Given the description of an element on the screen output the (x, y) to click on. 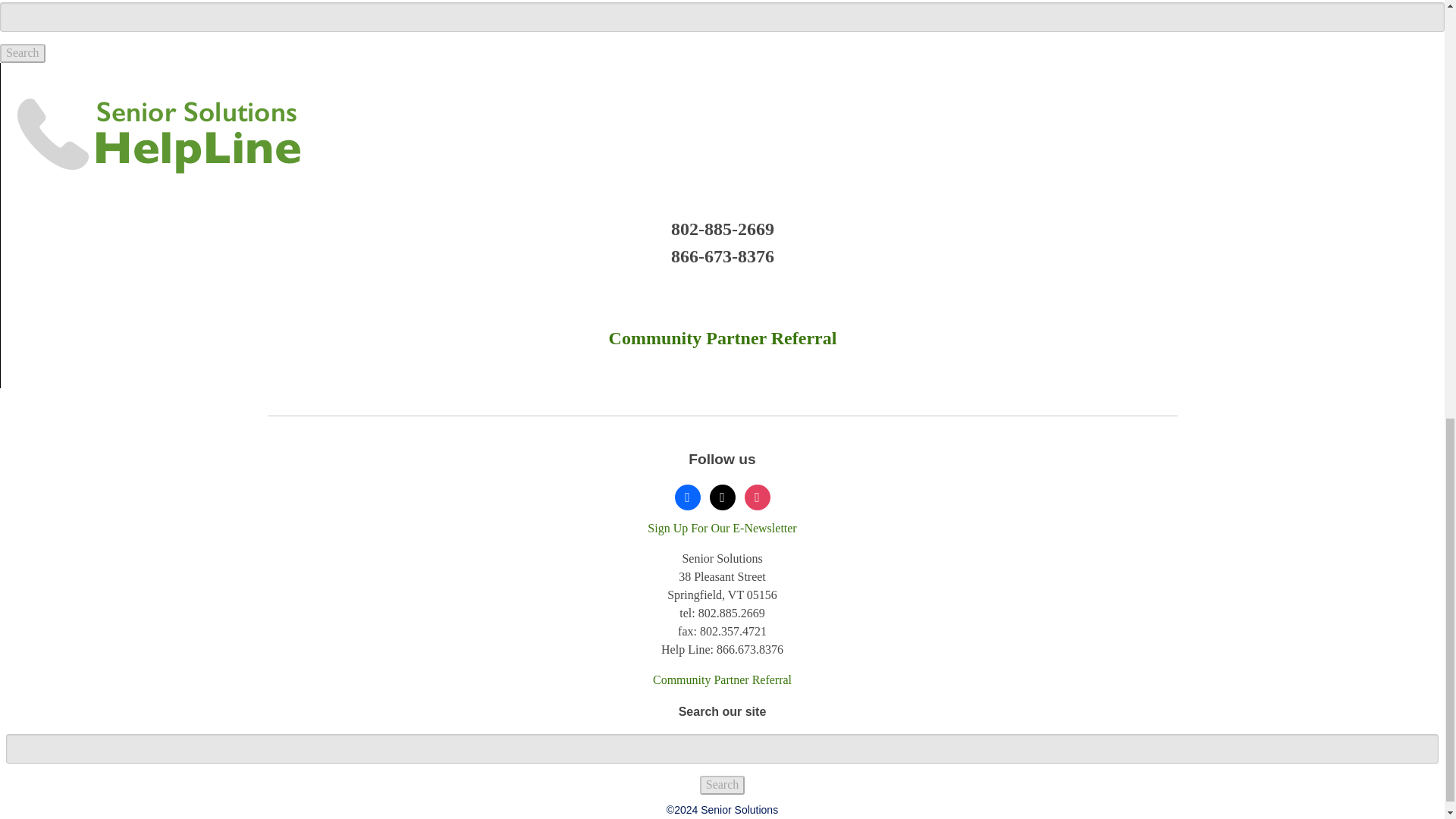
Facebook (687, 495)
Search (722, 784)
Search (22, 53)
